Given the description of an element on the screen output the (x, y) to click on. 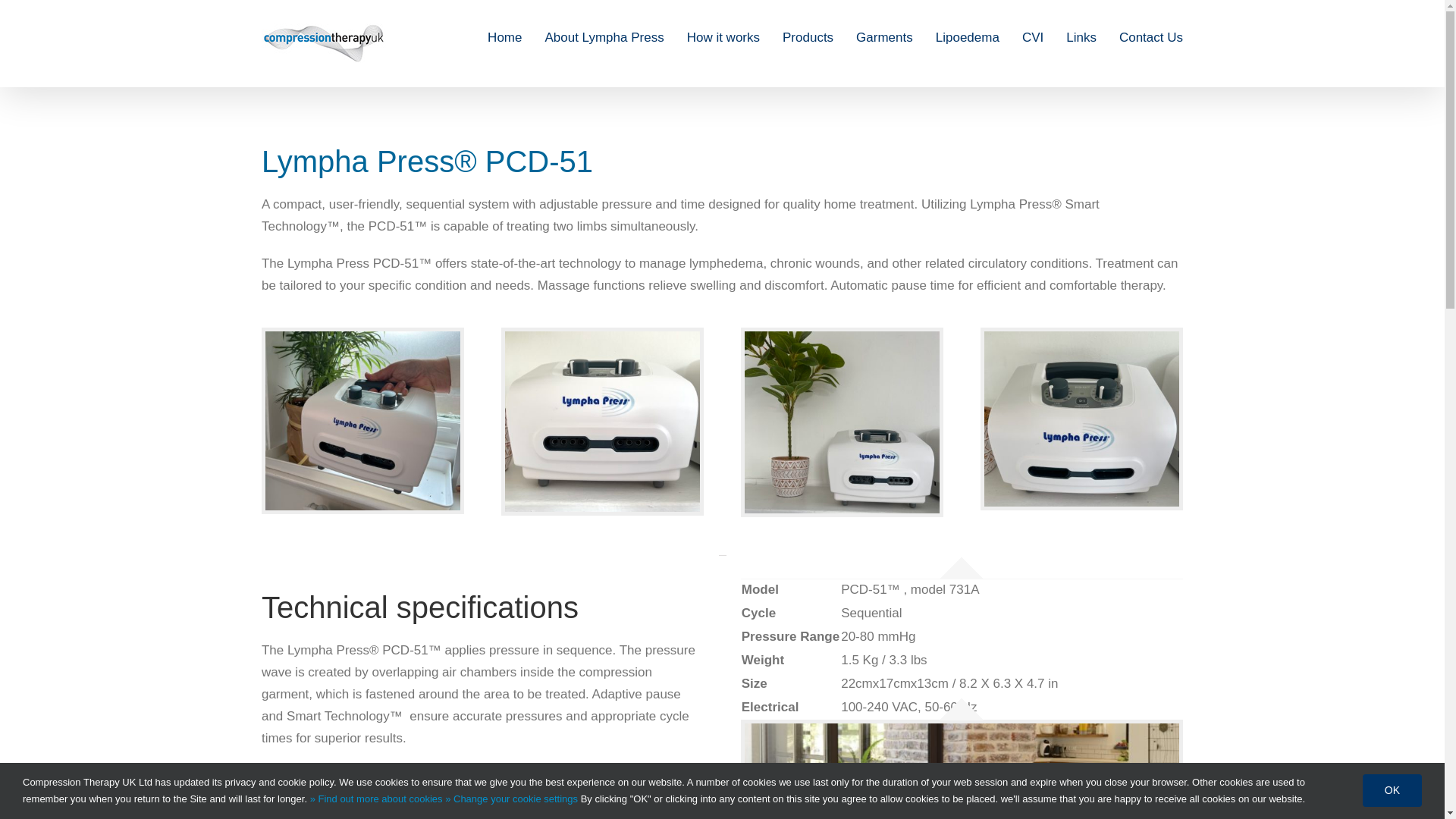
About Lympha Press (603, 37)
How it works (723, 37)
